Given the description of an element on the screen output the (x, y) to click on. 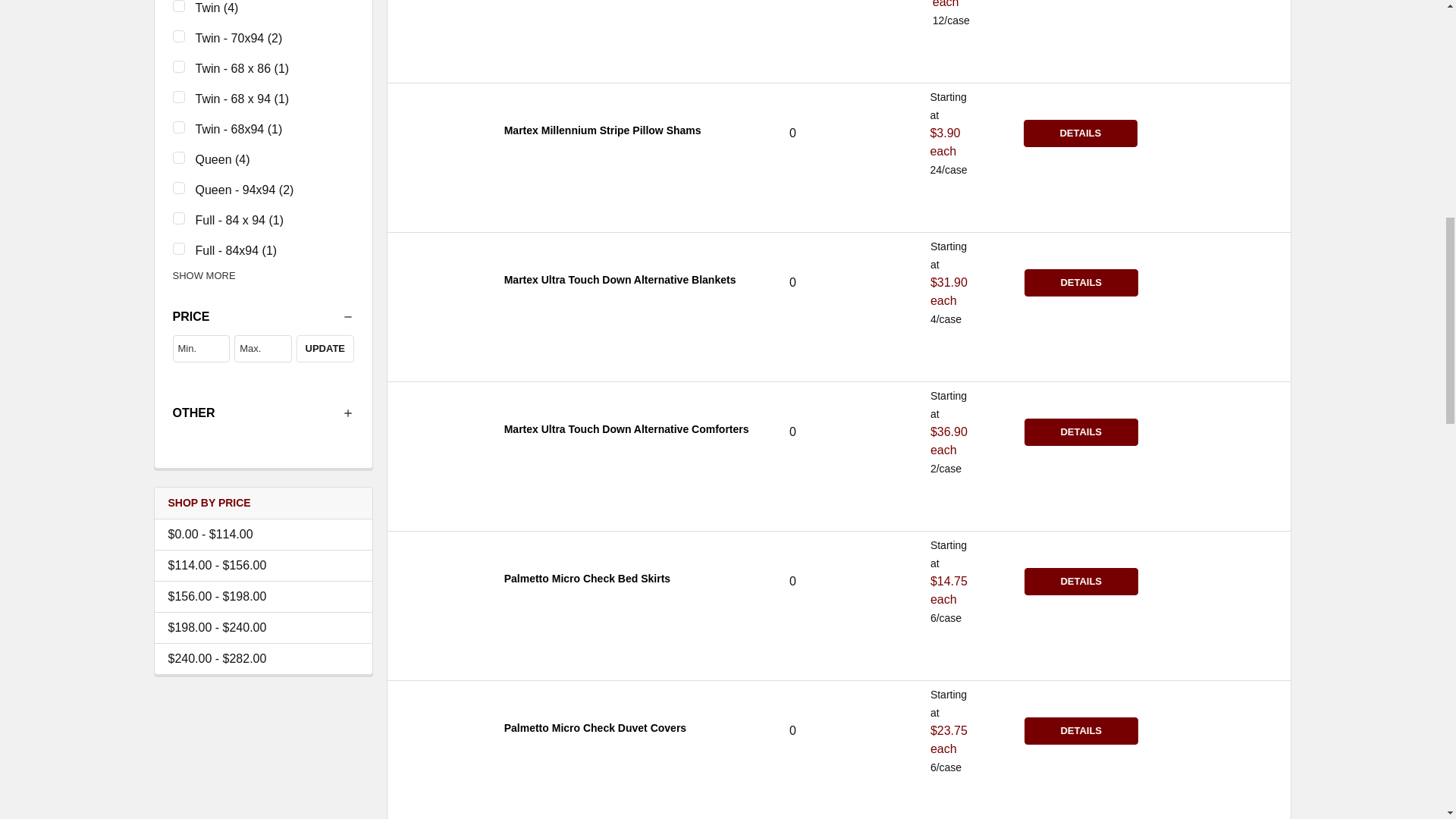
White Micro Check duvet cover on the corner of a bed. (439, 730)
Martex Ultra Touch Down Alternative Comforter (439, 431)
Micro Check white bed skirt pleated corner. (439, 581)
Martex Ultra Touch Down Alternative Blanket (439, 282)
Martex Millennium Duvet Cover (439, 133)
Martex Millennium Stripe Duvet Cover (439, 11)
